Given the description of an element on the screen output the (x, y) to click on. 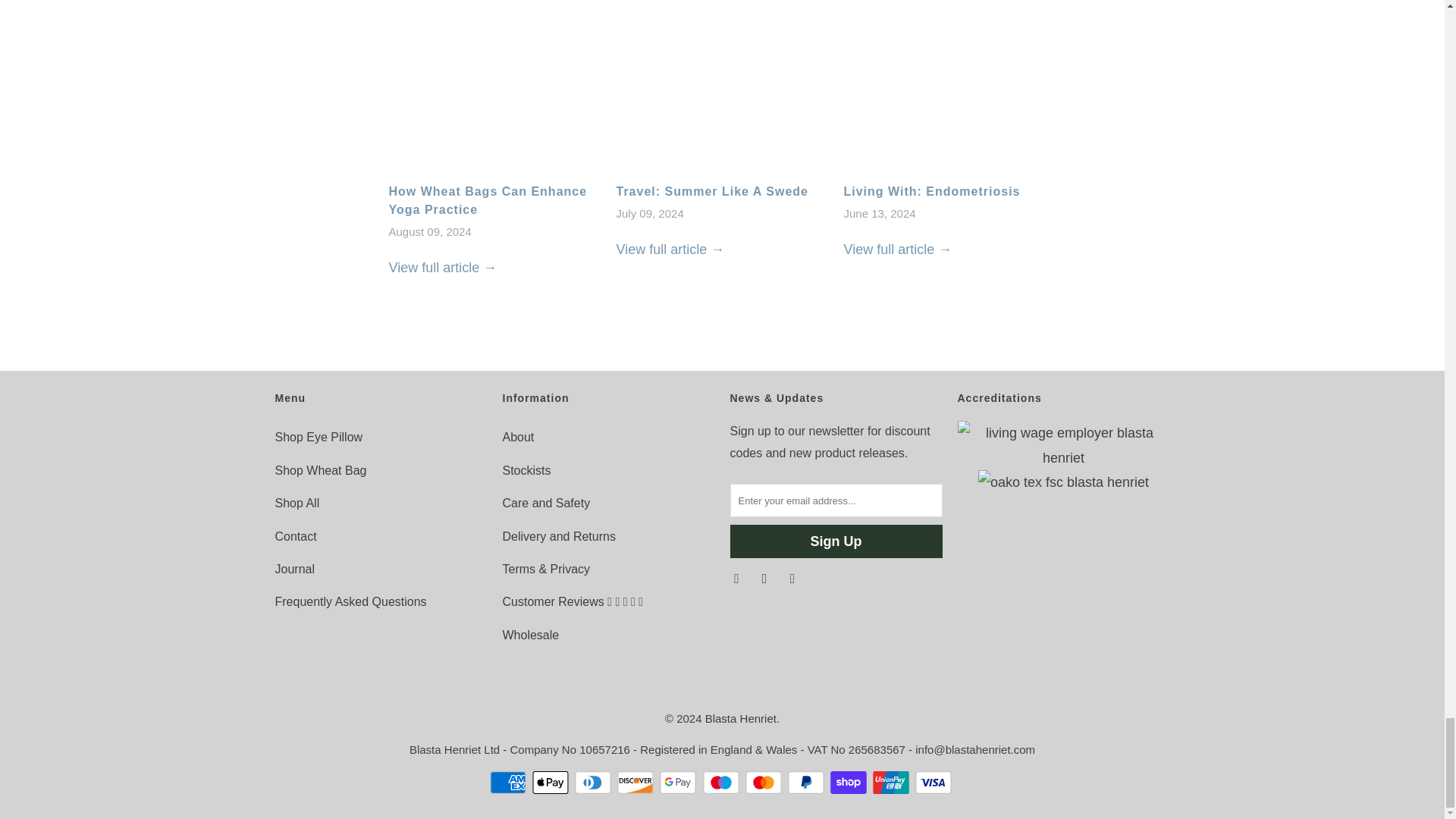
Shop Pay (849, 782)
Google Pay (678, 782)
Apple Pay (552, 782)
Diners Club (594, 782)
Visa (935, 782)
How Wheat Bags Can Enhance Yoga Practice (487, 200)
Maestro (721, 782)
American Express (509, 782)
PayPal (807, 782)
Sign Up (835, 540)
